Given the description of an element on the screen output the (x, y) to click on. 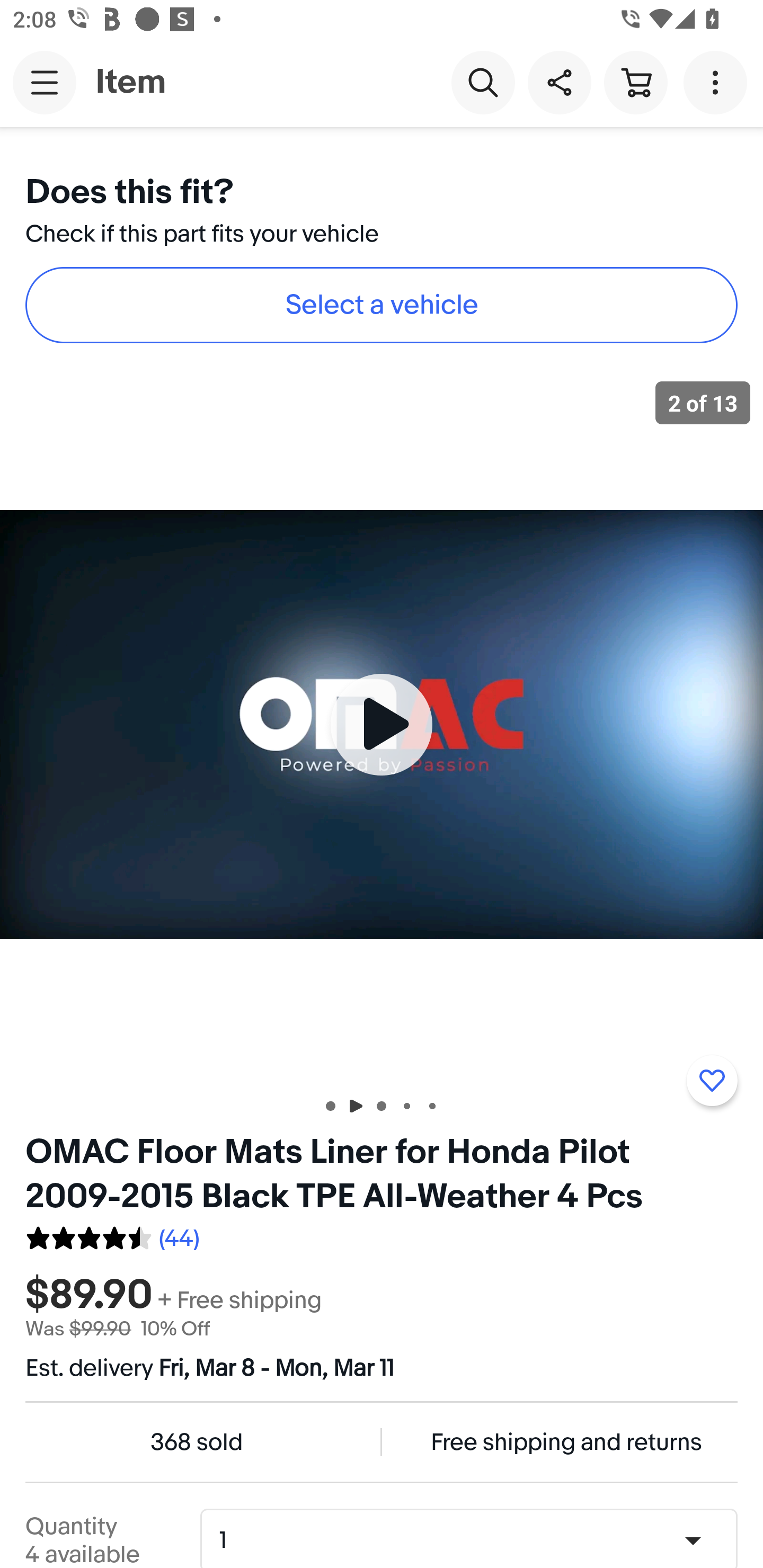
Main navigation, open (44, 82)
Search (482, 81)
Share this item (559, 81)
Cart button shopping cart (635, 81)
More options (718, 81)
Select a vehicle (381, 304)
Item image 2 of 13, plays video (381, 724)
Add to watchlist (711, 1080)
Quantity,1,4 available 1 (474, 1540)
